Given the description of an element on the screen output the (x, y) to click on. 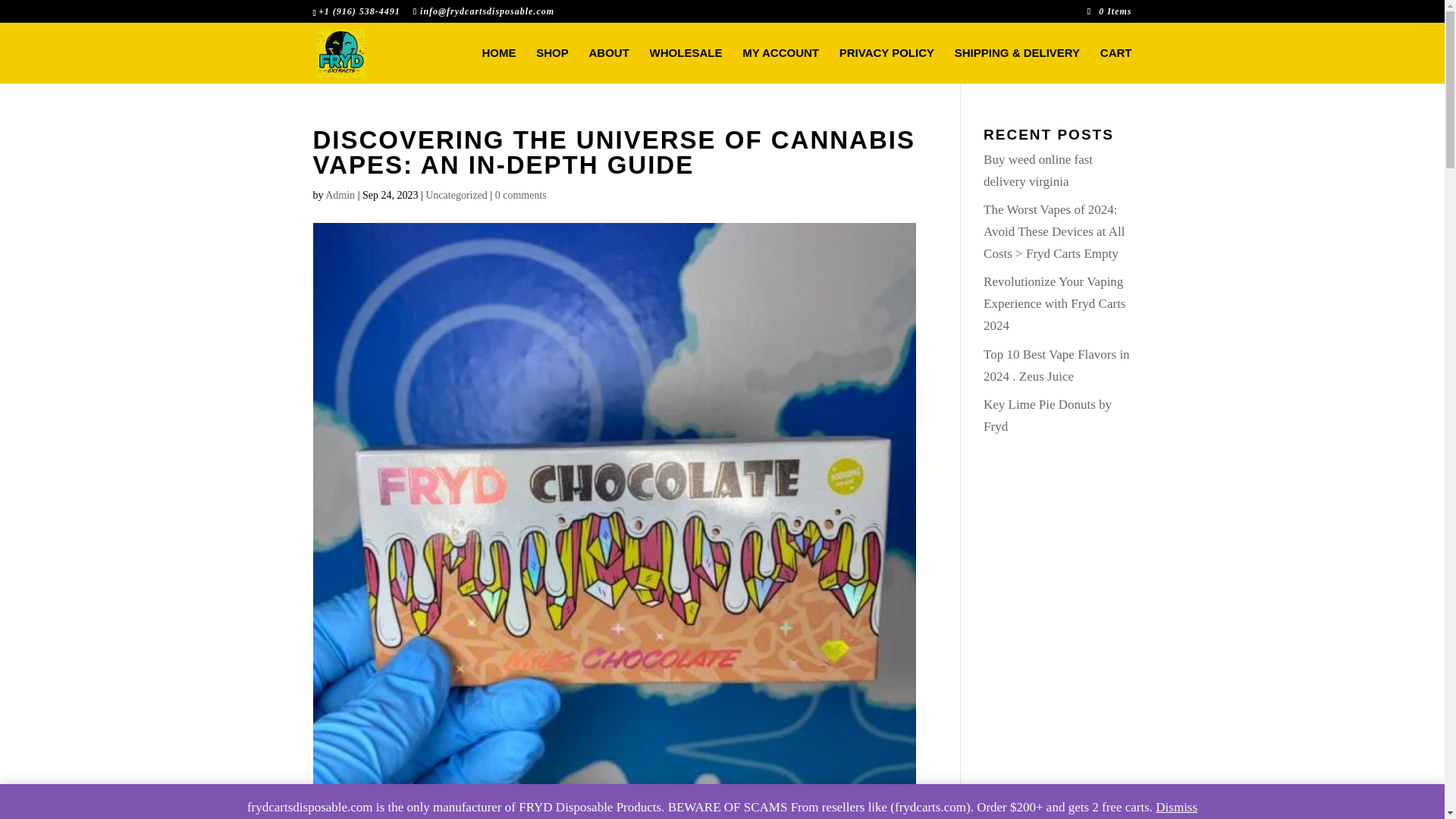
CART (1116, 65)
Admin (339, 194)
WHOLESALE (685, 65)
0 Items (1109, 10)
Top 10 Best Vape Flavors in 2024 . Zeus Juice (1056, 365)
0 comments (521, 194)
MY ACCOUNT (780, 65)
Posts by Admin (339, 194)
Revolutionize Your Vaping Experience with Fryd Carts 2024 (1054, 303)
Buy weed online fast delivery virginia (1038, 170)
HOME (498, 65)
SHOP (552, 65)
PRIVACY POLICY (887, 65)
Key Lime Pie Donuts by Fryd (1048, 415)
ABOUT (608, 65)
